Given the description of an element on the screen output the (x, y) to click on. 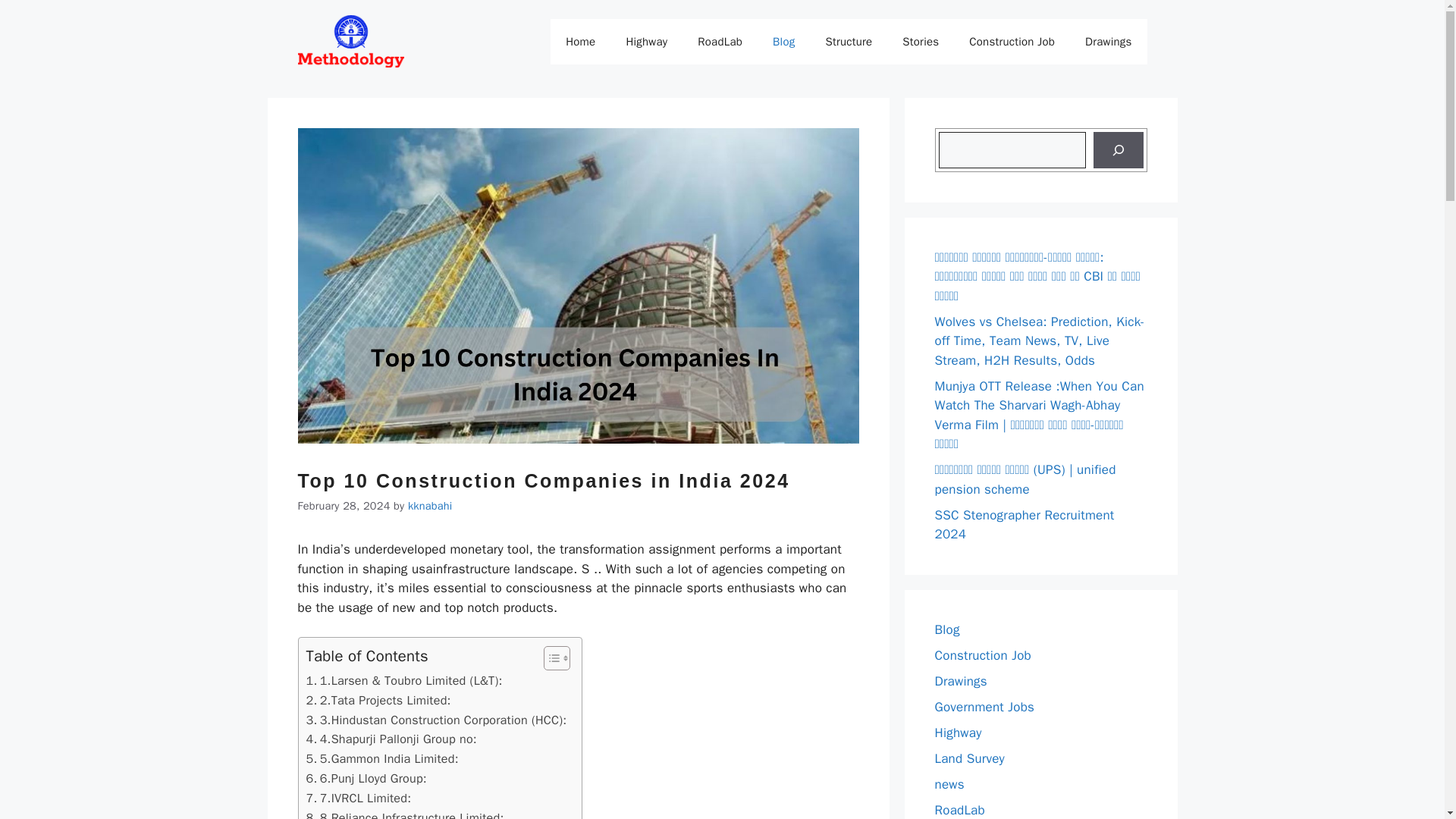
Home (580, 41)
7.IVRCL Limited: (358, 798)
6.Punj Lloyd Group: (365, 778)
Construction Job (1011, 41)
4.Shapurji Pallonji Group no: (391, 739)
2.Tata Projects Limited: (378, 700)
Stories (919, 41)
Blog (783, 41)
6.Punj Lloyd Group: (365, 778)
Highway (646, 41)
